Given the description of an element on the screen output the (x, y) to click on. 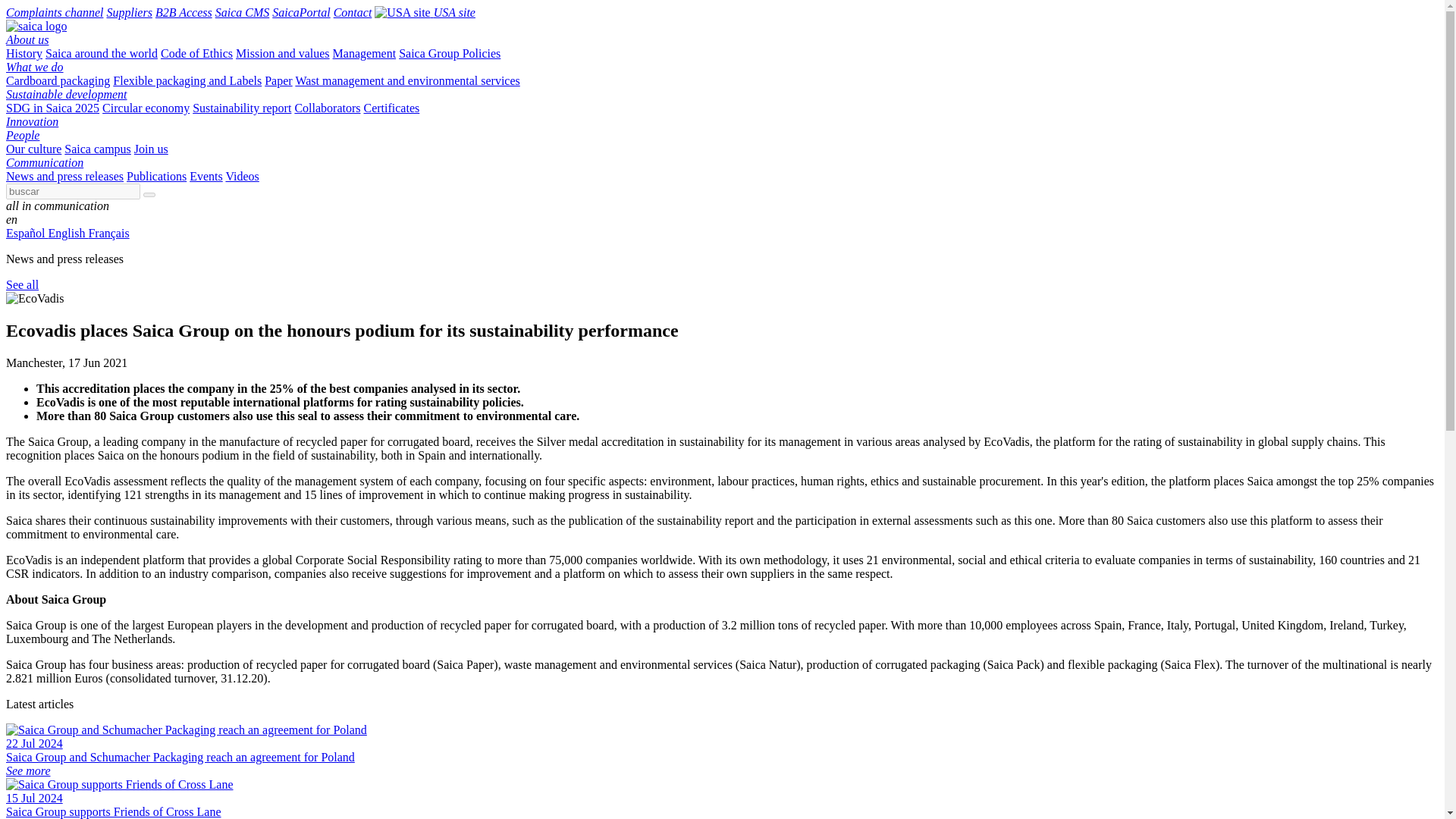
USA site (425, 11)
Sustainable development (66, 93)
Innovation (31, 121)
History (23, 52)
Flexible packaging and Labels (187, 80)
Videos (242, 175)
What we do (34, 66)
B2B Access (183, 11)
Collaborators (326, 107)
Suppliers (128, 11)
SaicaPortal (301, 11)
SDG in Saica 2025 (52, 107)
Saica around the world (101, 52)
Saica Group Policies (449, 52)
People (22, 134)
